Given the description of an element on the screen output the (x, y) to click on. 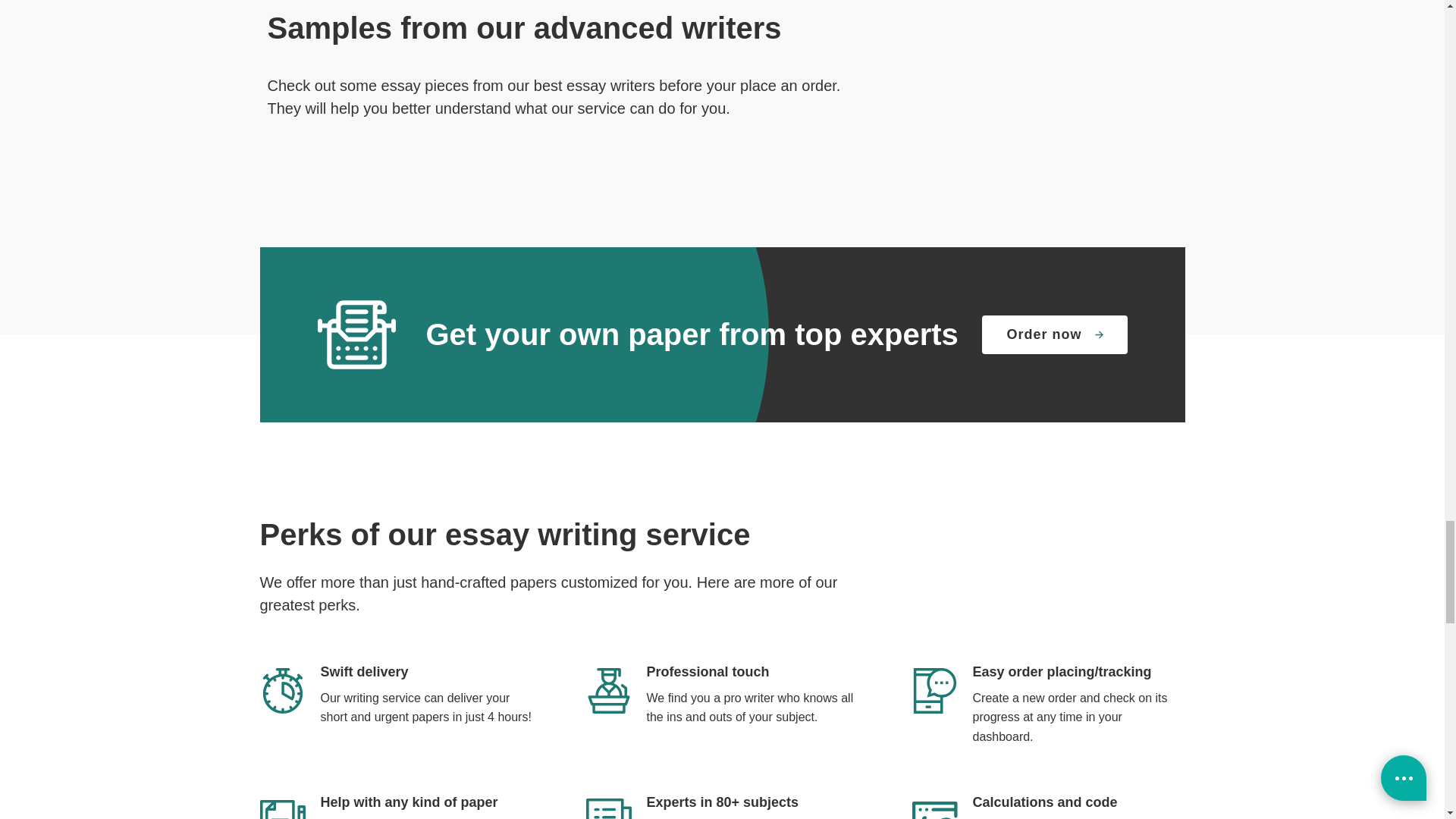
Order now (1053, 334)
